Given the description of an element on the screen output the (x, y) to click on. 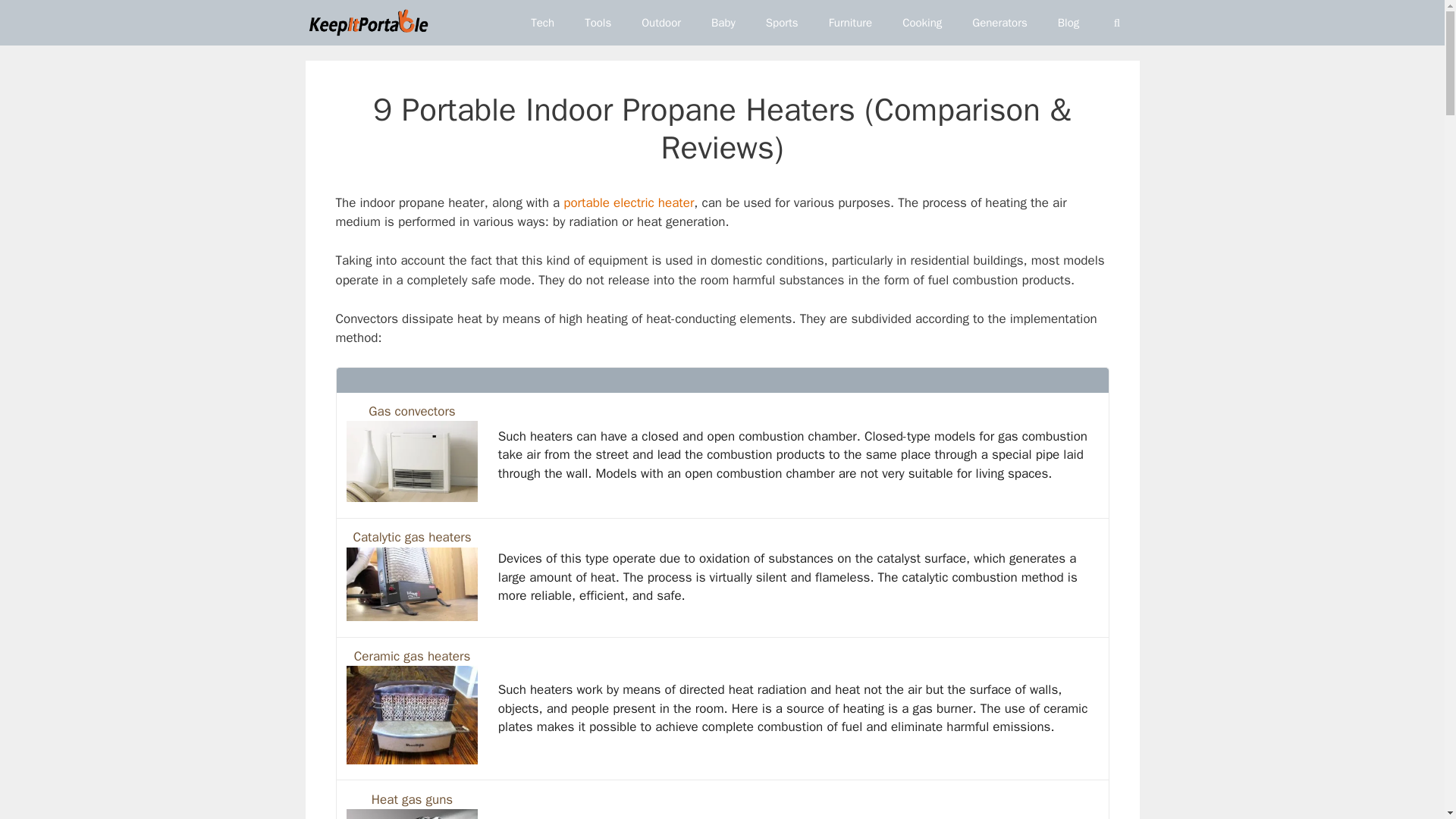
Furniture (850, 22)
portable electric heater (628, 202)
Generators (999, 22)
Tech (542, 22)
Outdoor (660, 22)
Baby (723, 22)
Tools (597, 22)
Cooking (921, 22)
Blog (1068, 22)
Sports (782, 22)
Keep It Portable. Best portable goods on the market (367, 22)
Keep It Portable. Best portable goods on the market (371, 22)
